Given the description of an element on the screen output the (x, y) to click on. 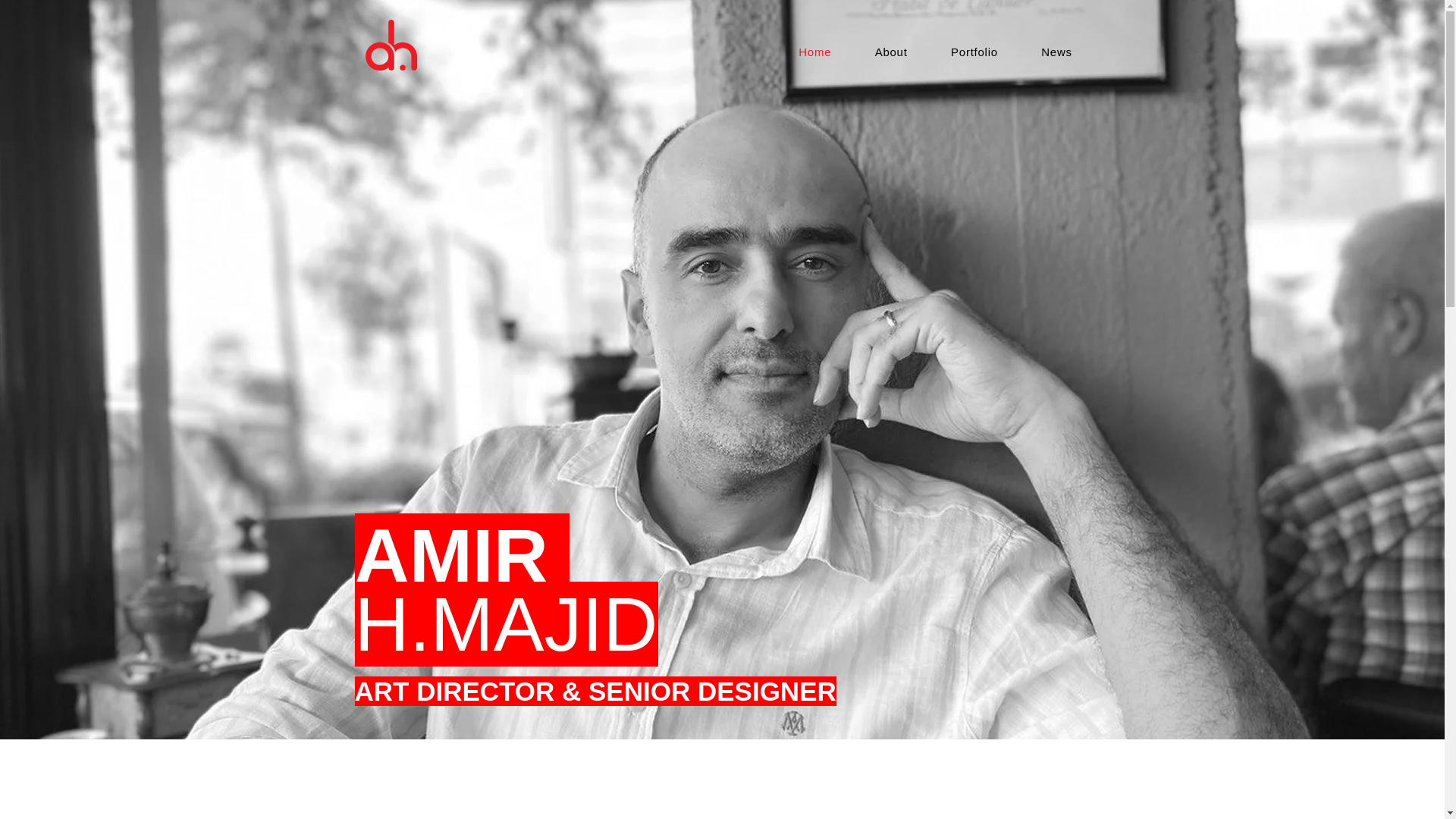
News (1057, 51)
Home (813, 51)
About (890, 51)
